Given the description of an element on the screen output the (x, y) to click on. 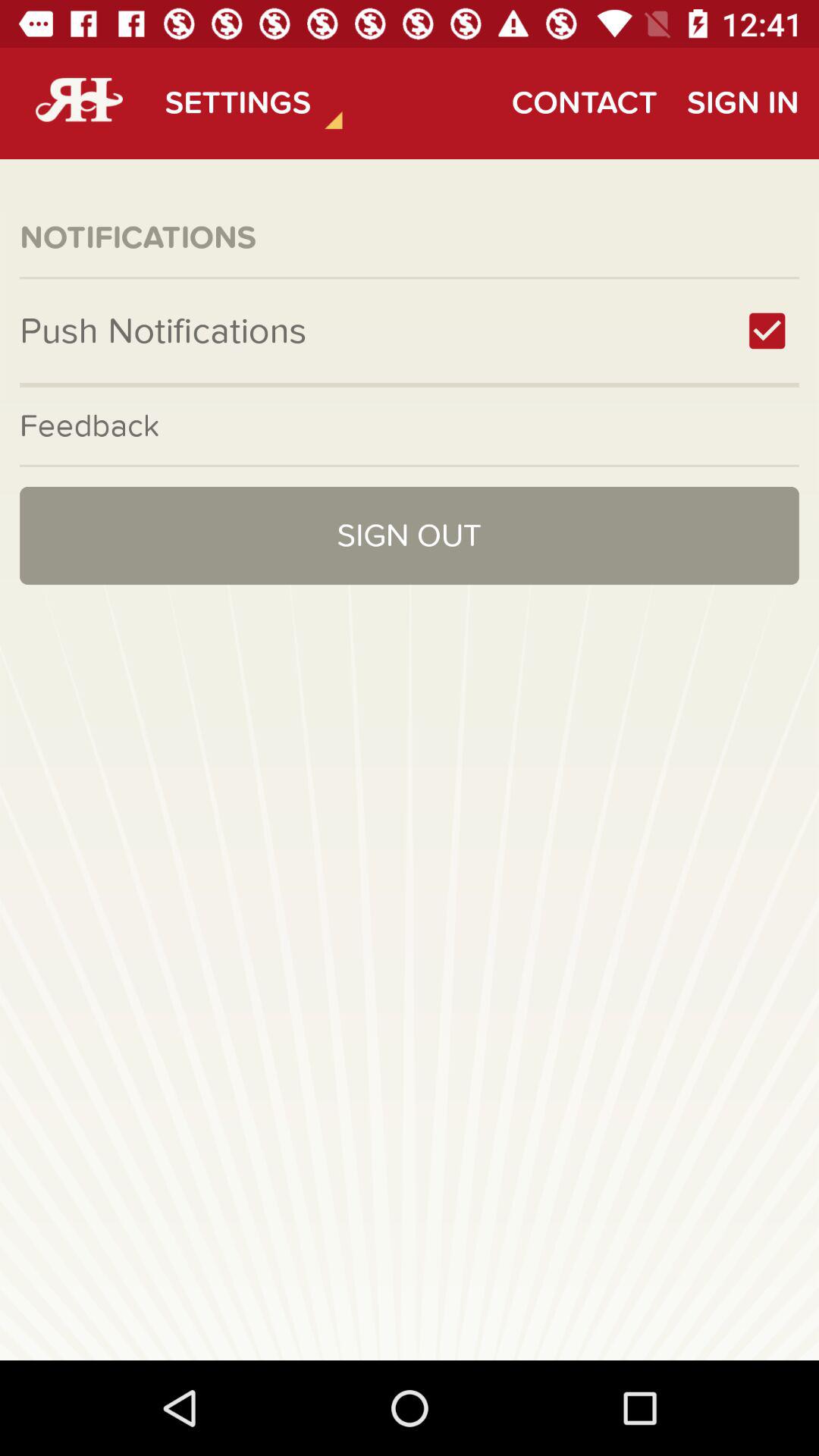
turn on the item to the right of the push notifications icon (767, 330)
